Given the description of an element on the screen output the (x, y) to click on. 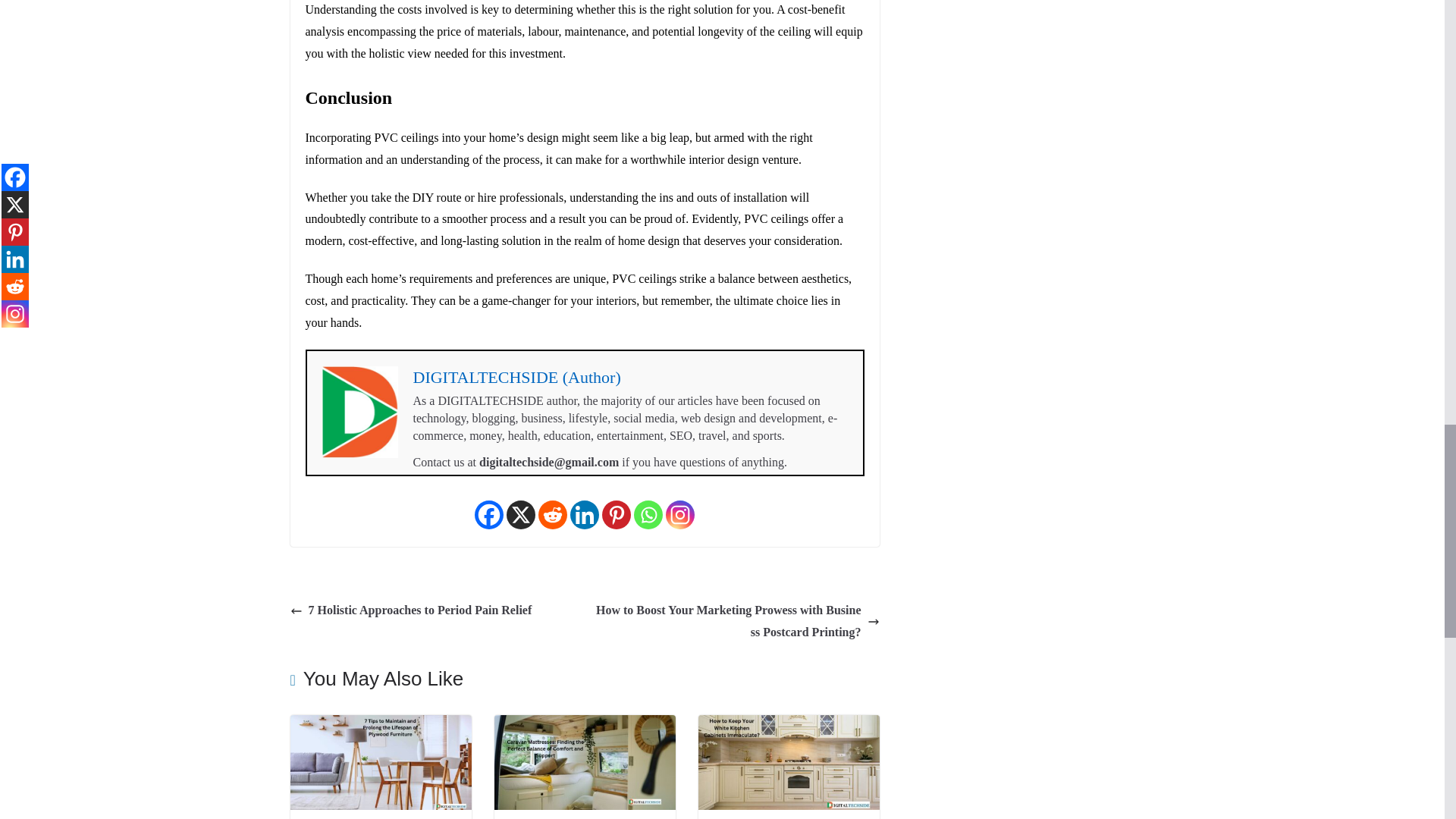
Whatsapp (647, 514)
Linkedin (584, 514)
Pinterest (616, 514)
X (520, 514)
Reddit (552, 514)
Instagram (679, 514)
Facebook (488, 514)
